Given the description of an element on the screen output the (x, y) to click on. 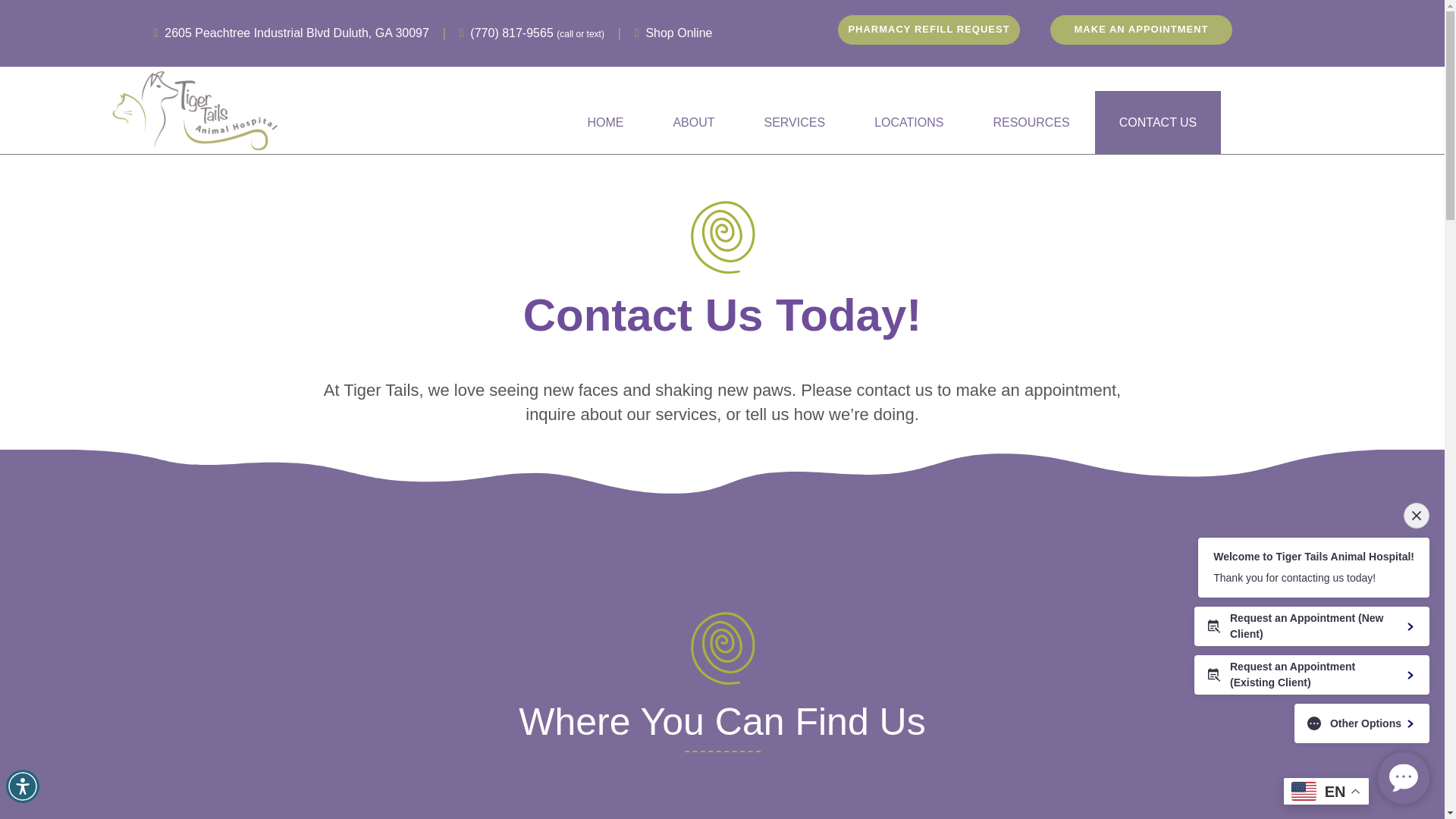
SERVICES (794, 121)
Swirl Bgreen (722, 237)
Accessibility Menu (22, 786)
Shop Online (678, 32)
Swirl Bgreen (722, 648)
LOCATIONS (909, 121)
ABOUT (692, 121)
2605 Peachtree Industrial Blvd Duluth, GA 30097 (296, 32)
PHARMACY REFILL REQUEST (929, 30)
HOME (604, 121)
MAKE AN APPOINTMENT (1140, 30)
Tiger Tails Final Logo Horz (195, 109)
